Given the description of an element on the screen output the (x, y) to click on. 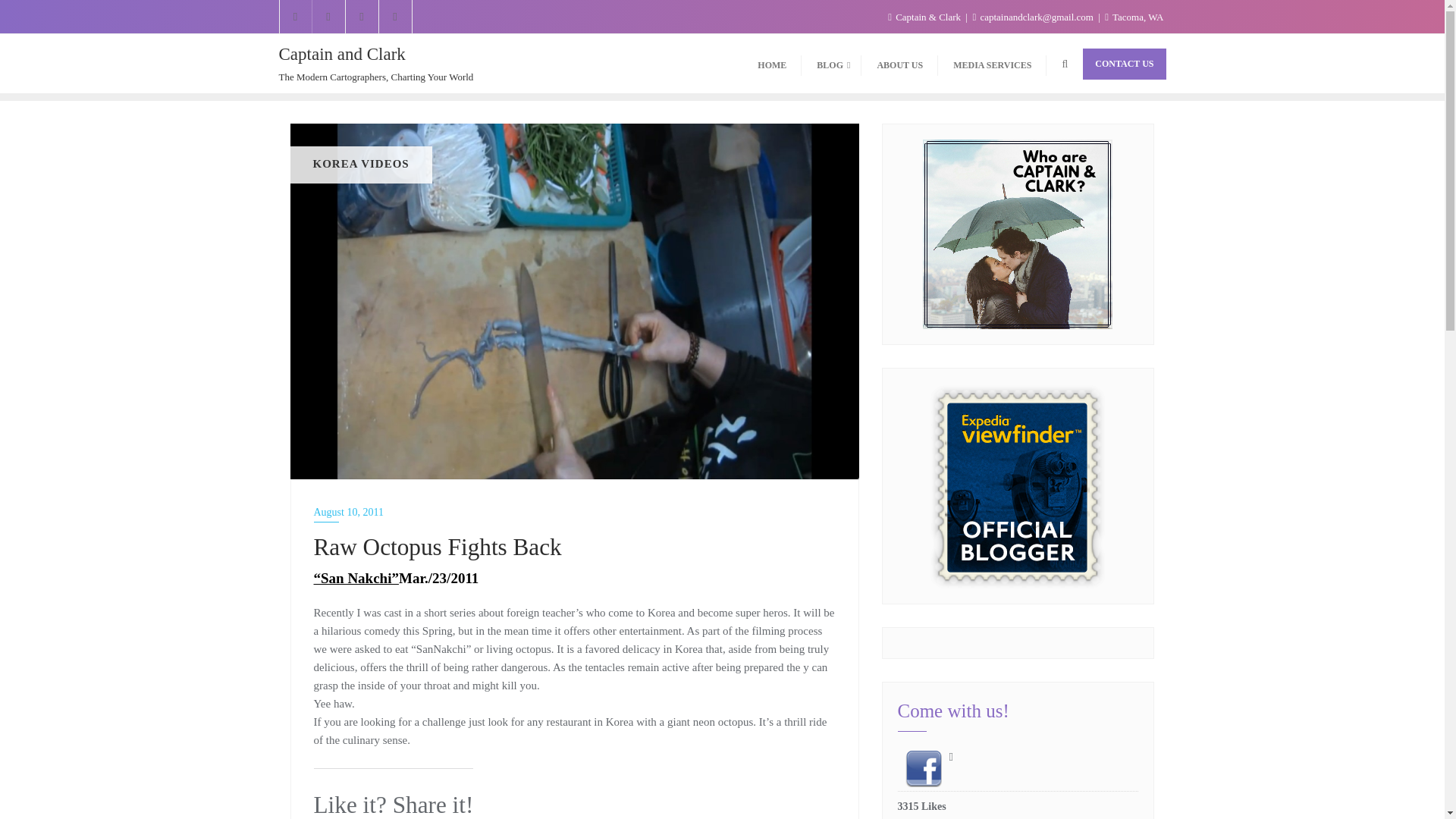
August 10, 2011 (574, 511)
HOME (772, 64)
CONTACT US (1124, 63)
BLOG (831, 64)
ABOUT US (899, 64)
MEDIA SERVICES (991, 64)
